Given the description of an element on the screen output the (x, y) to click on. 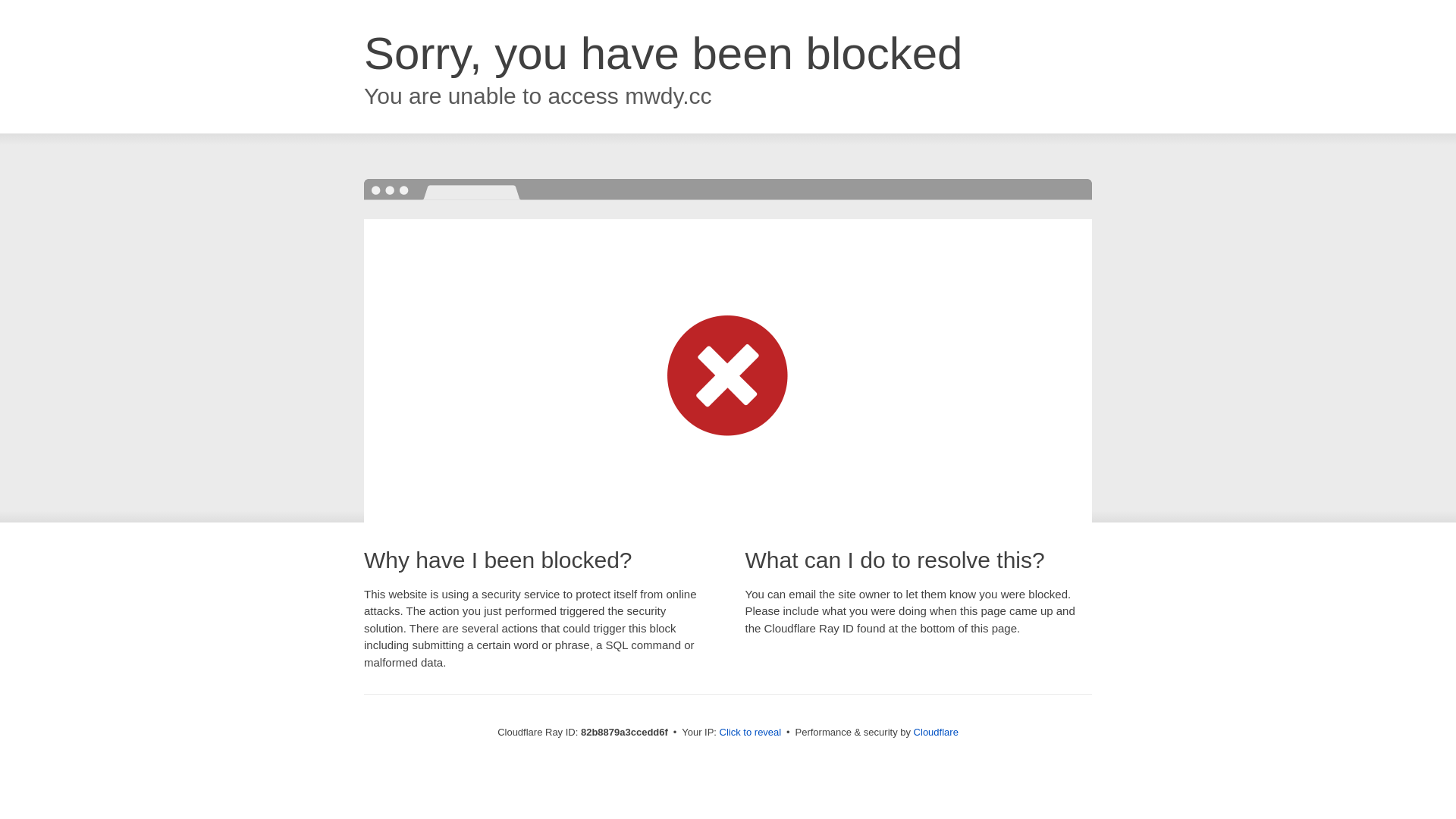
Cloudflare Element type: text (935, 731)
Click to reveal Element type: text (750, 732)
